Given the description of an element on the screen output the (x, y) to click on. 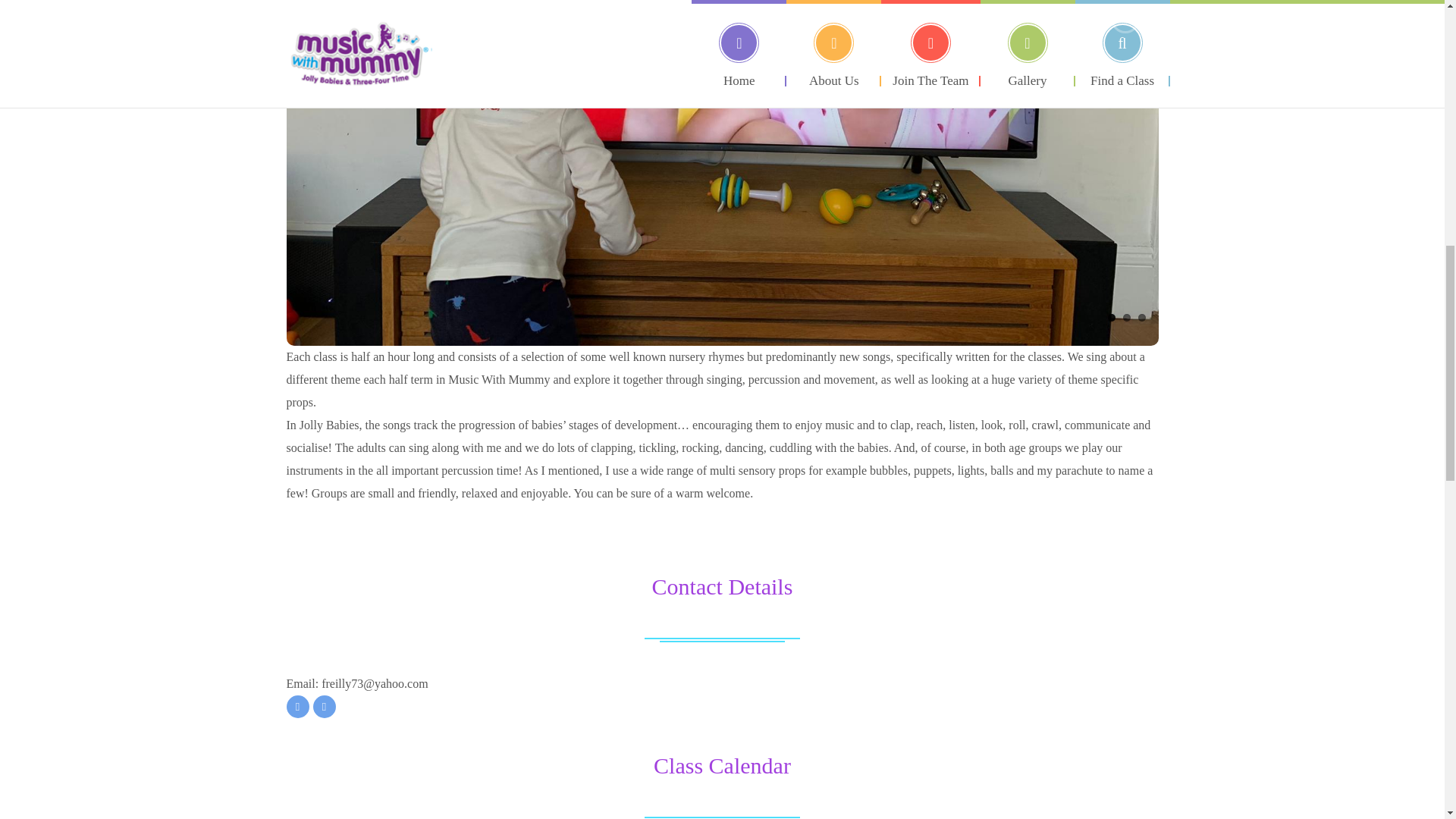
1 (1110, 317)
3 (1140, 317)
2 (1125, 317)
